Given the description of an element on the screen output the (x, y) to click on. 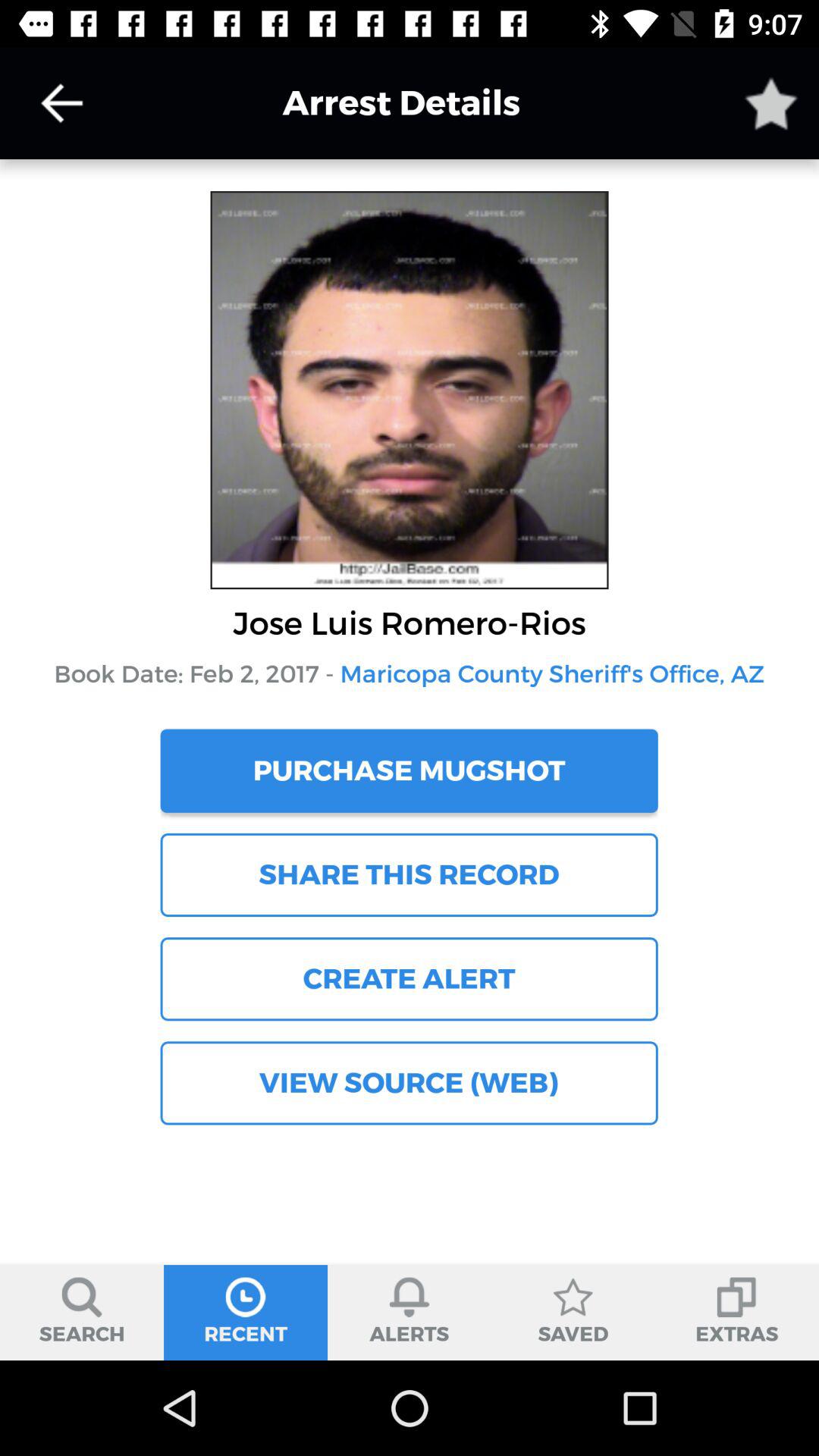
press the share this record (409, 874)
